Given the description of an element on the screen output the (x, y) to click on. 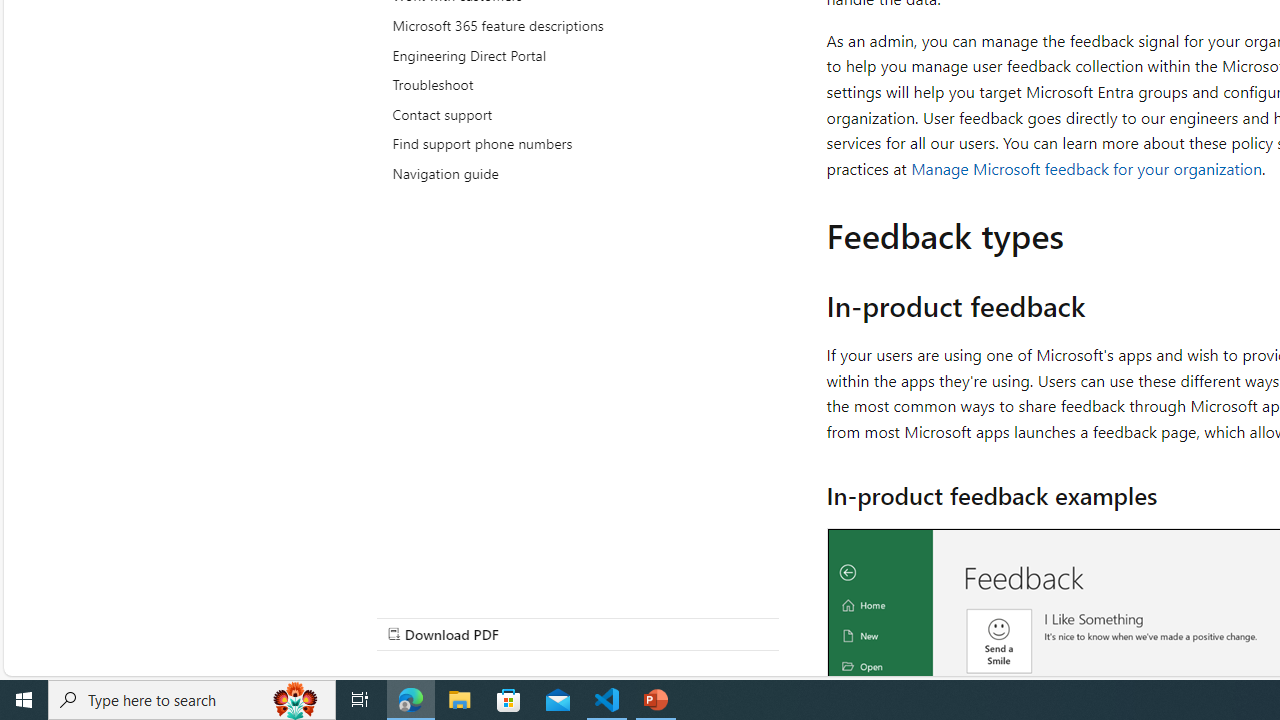
Manage Microsoft feedback for your organization (1087, 167)
Download PDF (577, 633)
